Given the description of an element on the screen output the (x, y) to click on. 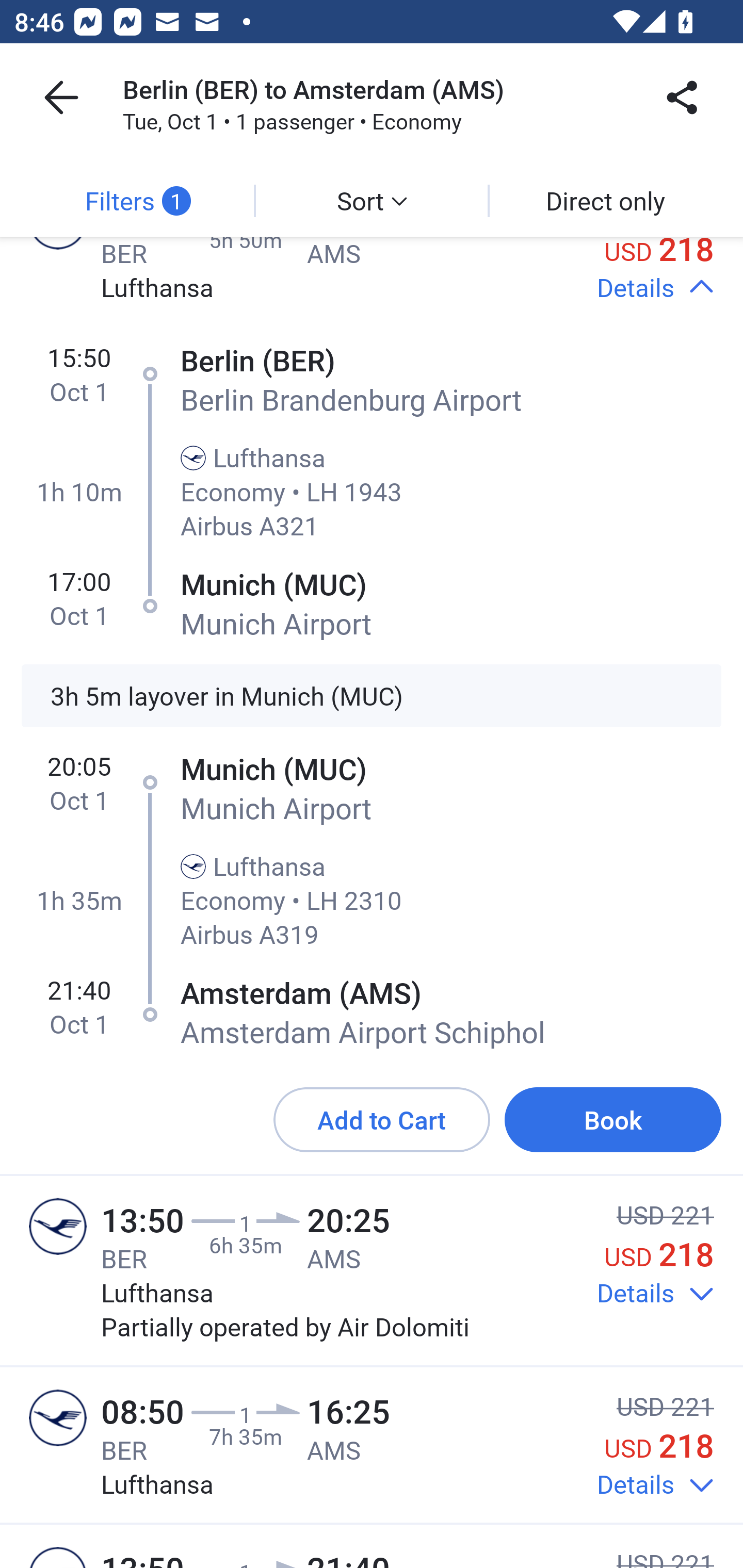
Filters 1 (137, 200)
Sort (371, 200)
Direct only (605, 200)
Add to Cart (381, 1120)
Book (612, 1120)
